Given the description of an element on the screen output the (x, y) to click on. 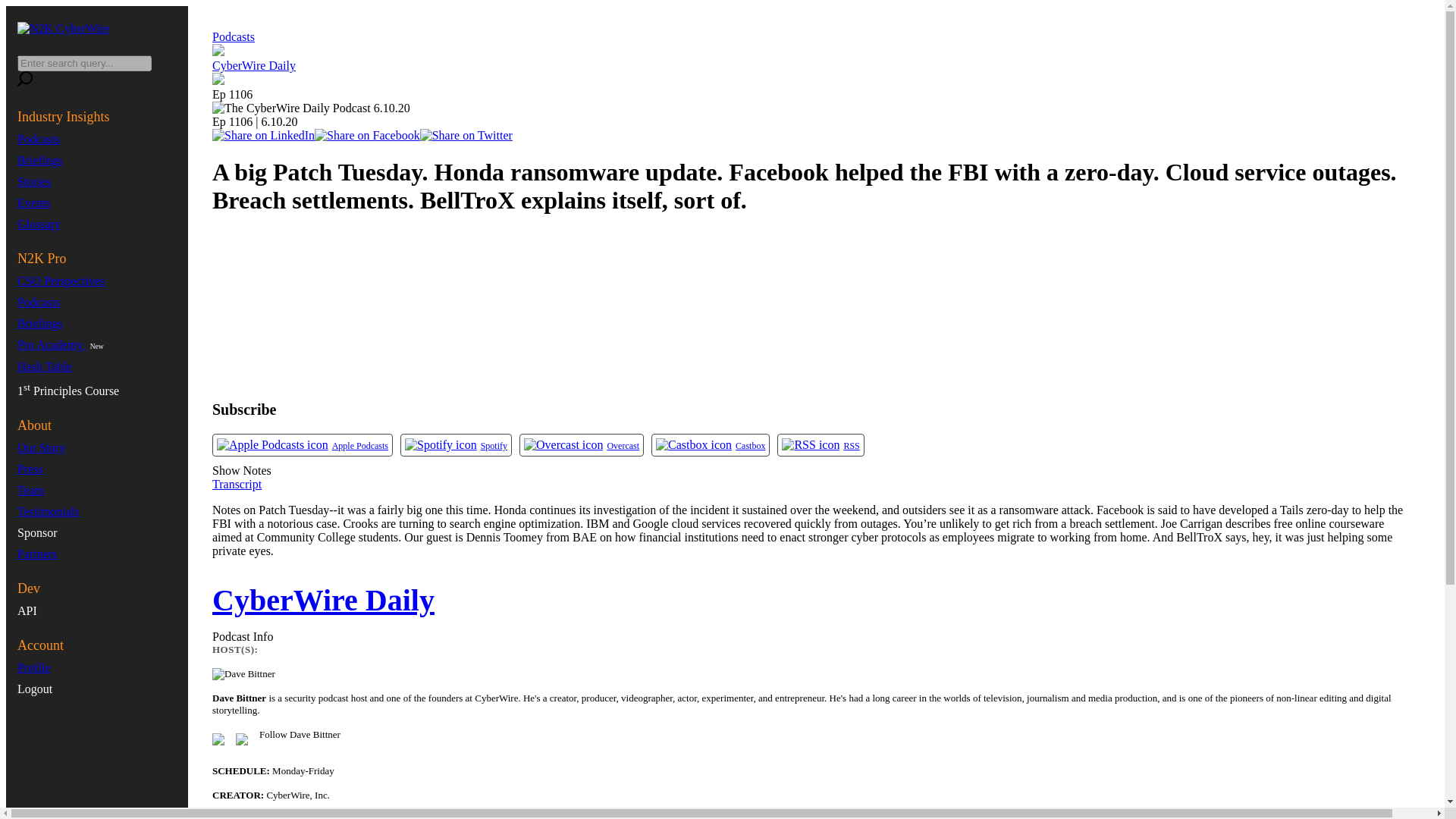
RSS (810, 445)
Briefings (39, 160)
Testimonials (48, 511)
Podcasts (38, 138)
Spotify (440, 445)
Apple Podcasts (272, 445)
Partners (36, 553)
CSO Perspectives (60, 280)
Events (33, 202)
API (27, 610)
